Given the description of an element on the screen output the (x, y) to click on. 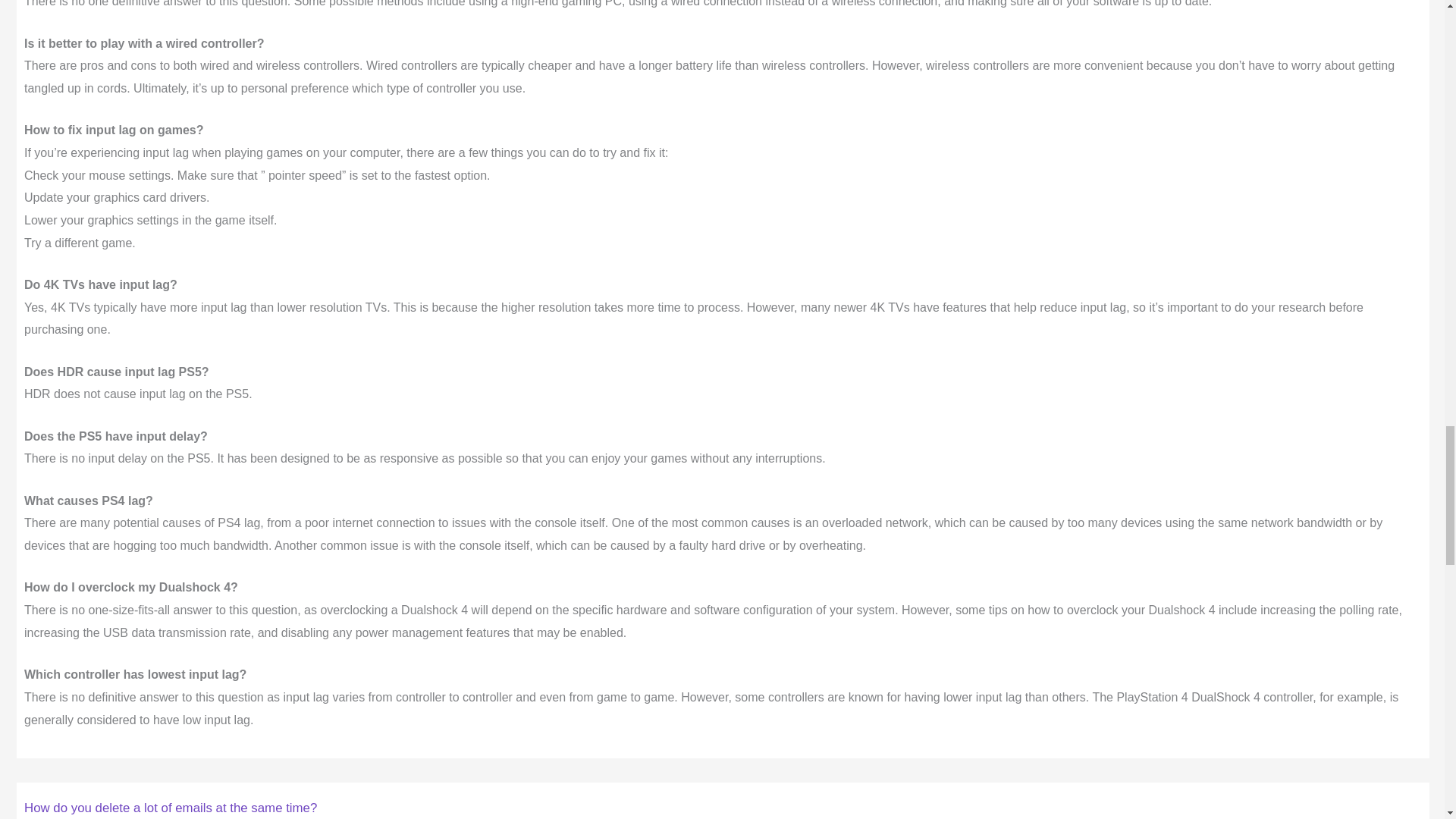
How do you delete a lot of emails at the same time? (170, 807)
